Given the description of an element on the screen output the (x, y) to click on. 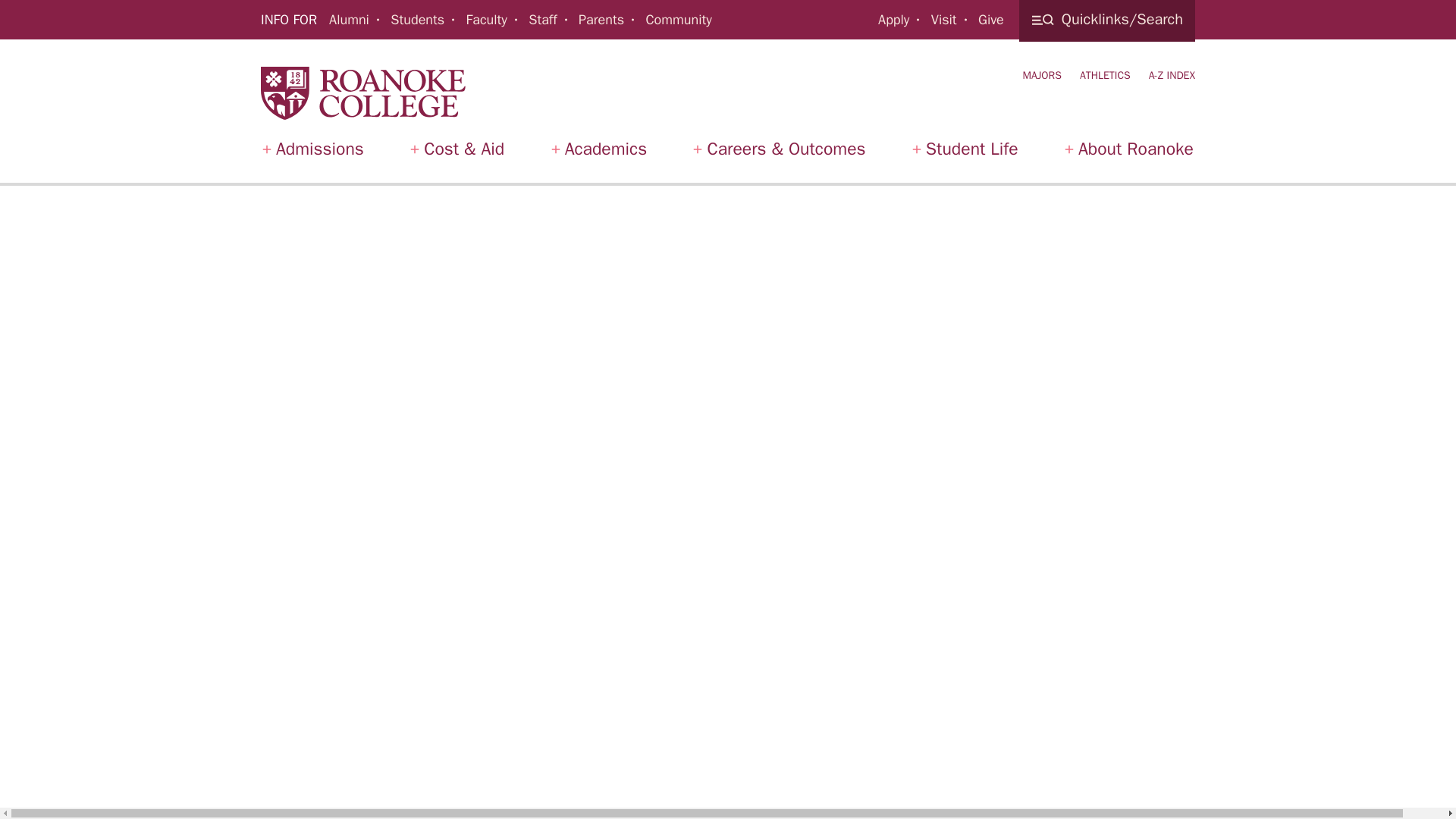
Staff (542, 19)
Apply (892, 19)
A-Z INDEX (1171, 74)
Alumni (349, 19)
ATHLETICS (1105, 74)
Community (678, 19)
Parents (601, 19)
Give (991, 19)
Visit (943, 19)
MAJORS (1041, 74)
